Given the description of an element on the screen output the (x, y) to click on. 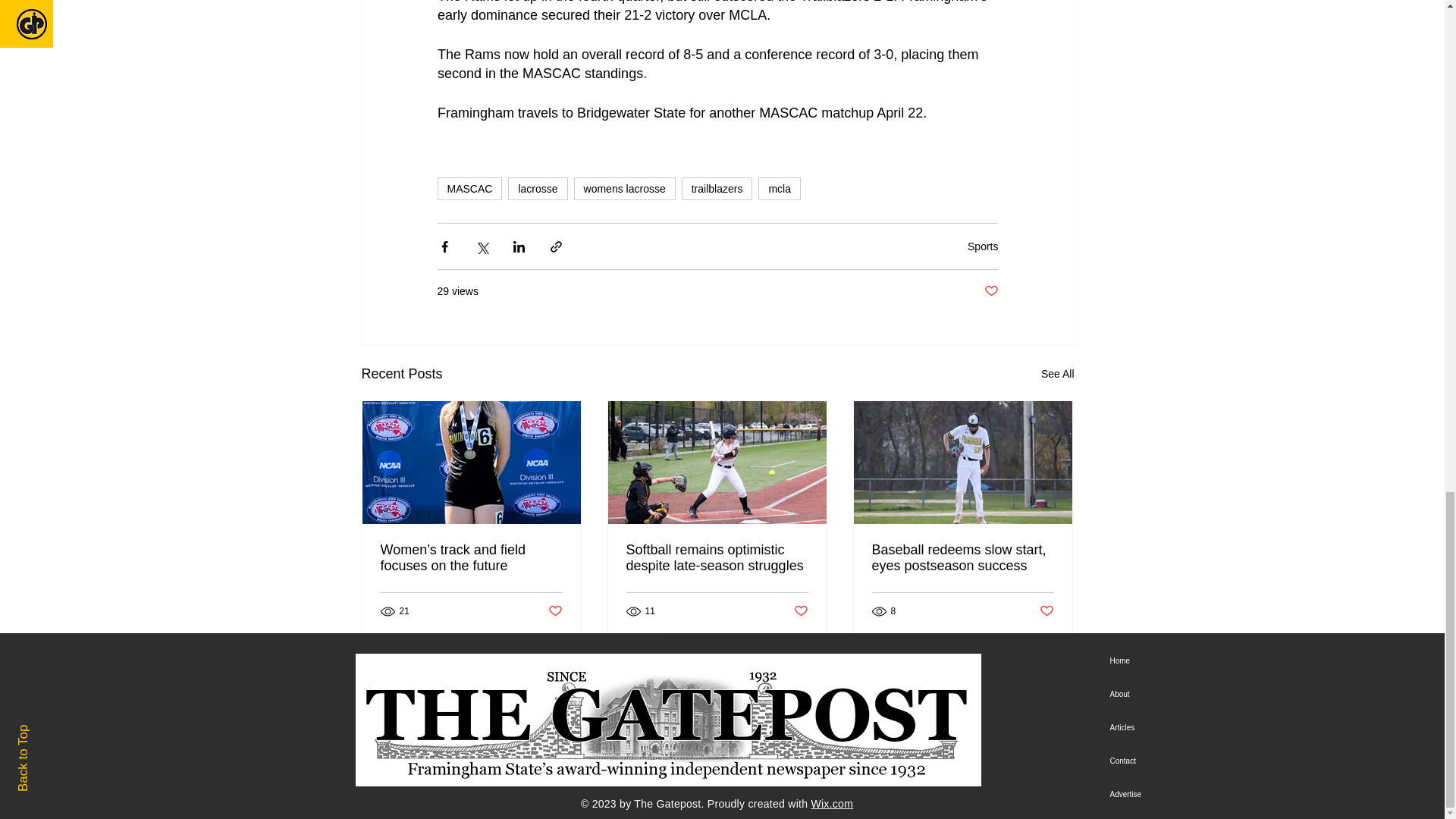
Post not marked as liked (800, 611)
womens lacrosse (624, 188)
Softball remains optimistic despite late-season struggles  (717, 558)
See All (1057, 373)
Post not marked as liked (554, 611)
trailblazers (716, 188)
Post not marked as liked (1045, 611)
lacrosse (537, 188)
MASCAC (469, 188)
Sports (982, 246)
Baseball redeems slow start, eyes postseason success (963, 558)
mcla (779, 188)
Post not marked as liked (991, 291)
